Given the description of an element on the screen output the (x, y) to click on. 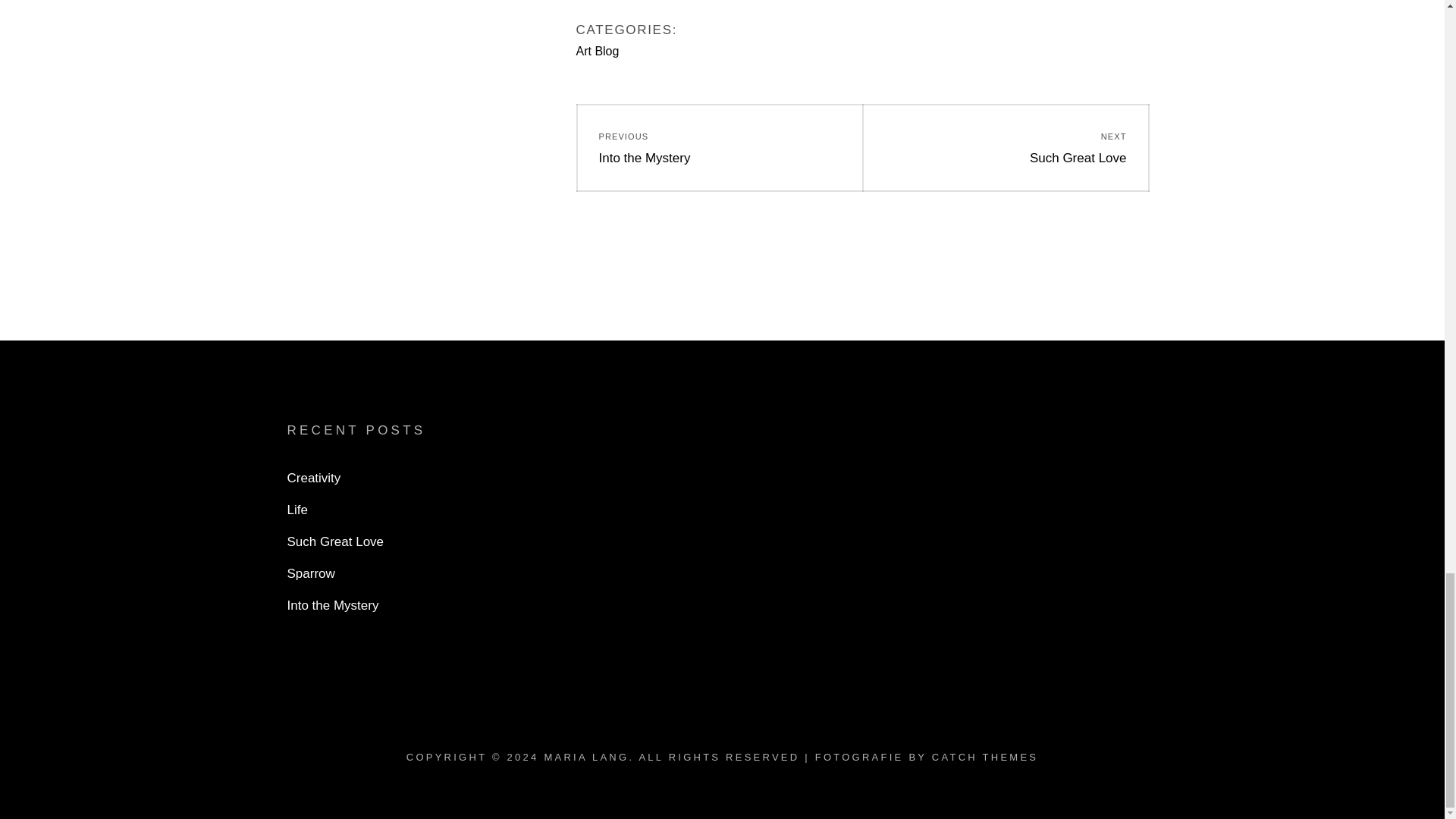
Art Blog (598, 50)
